Given the description of an element on the screen output the (x, y) to click on. 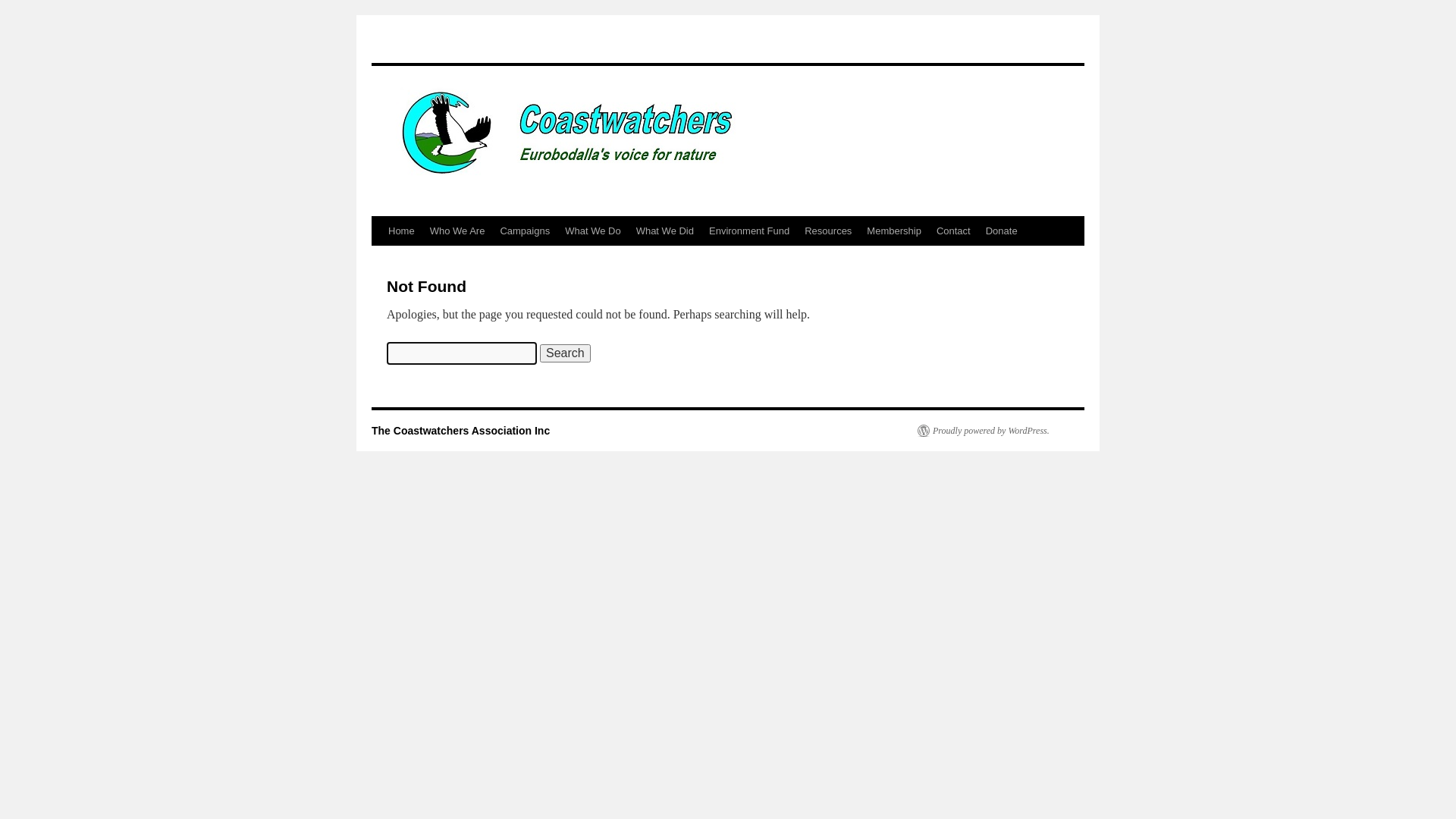
Home Element type: text (401, 230)
Search Element type: text (564, 353)
What We Did Element type: text (664, 230)
Skip to content Element type: text (377, 259)
Environment Fund Element type: text (749, 230)
Contact Element type: text (953, 230)
The Coastwatchers Association Inc Element type: text (460, 430)
Resources Element type: text (828, 230)
Membership Element type: text (893, 230)
Proudly powered by WordPress. Element type: text (983, 430)
Donate Element type: text (1001, 230)
What We Do Element type: text (592, 230)
Campaigns Element type: text (524, 230)
Who We Are Element type: text (457, 230)
